Given the description of an element on the screen output the (x, y) to click on. 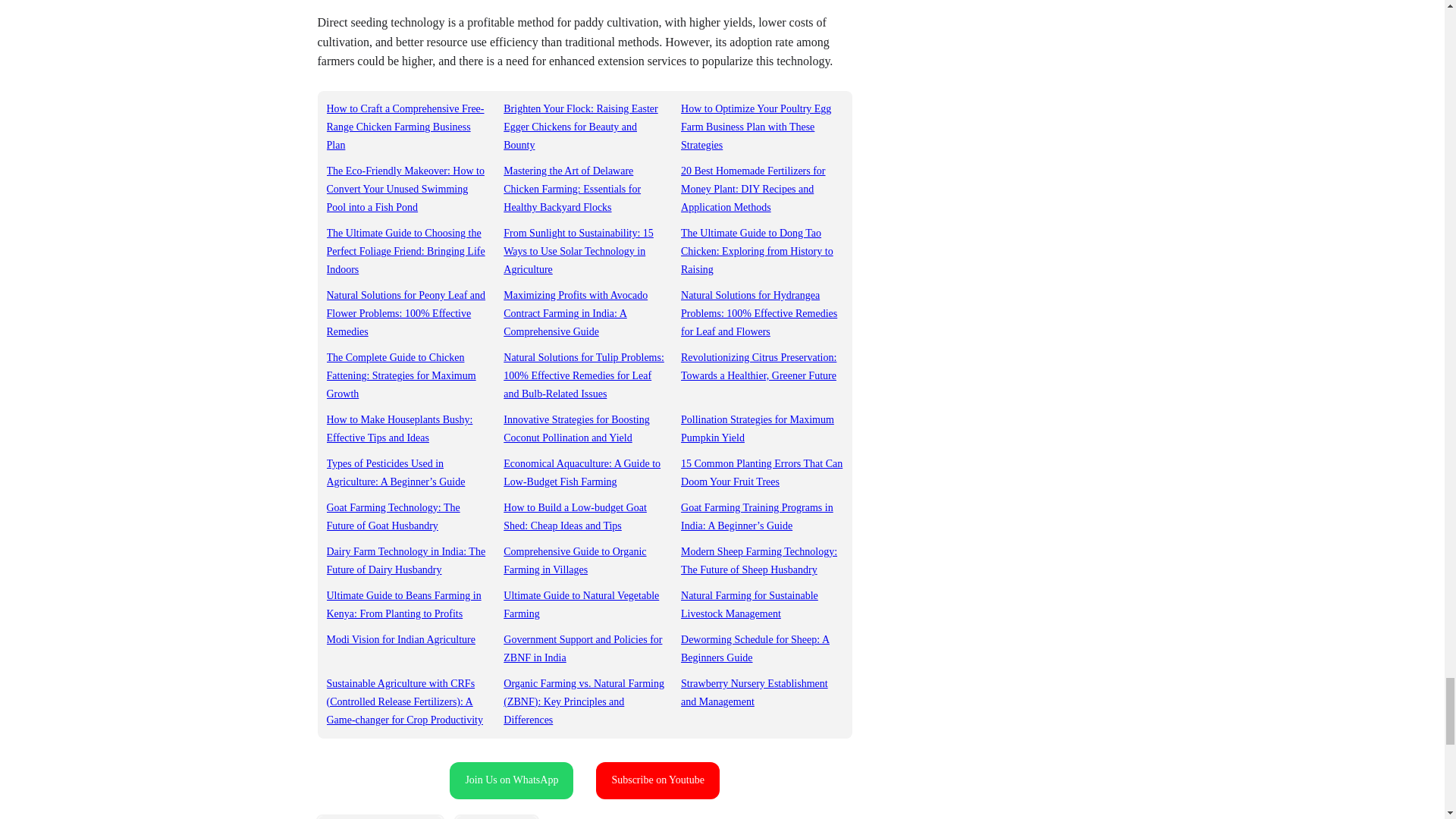
Subscribe on Youtube (657, 780)
Join Us on WhatsApp (511, 780)
